Given the description of an element on the screen output the (x, y) to click on. 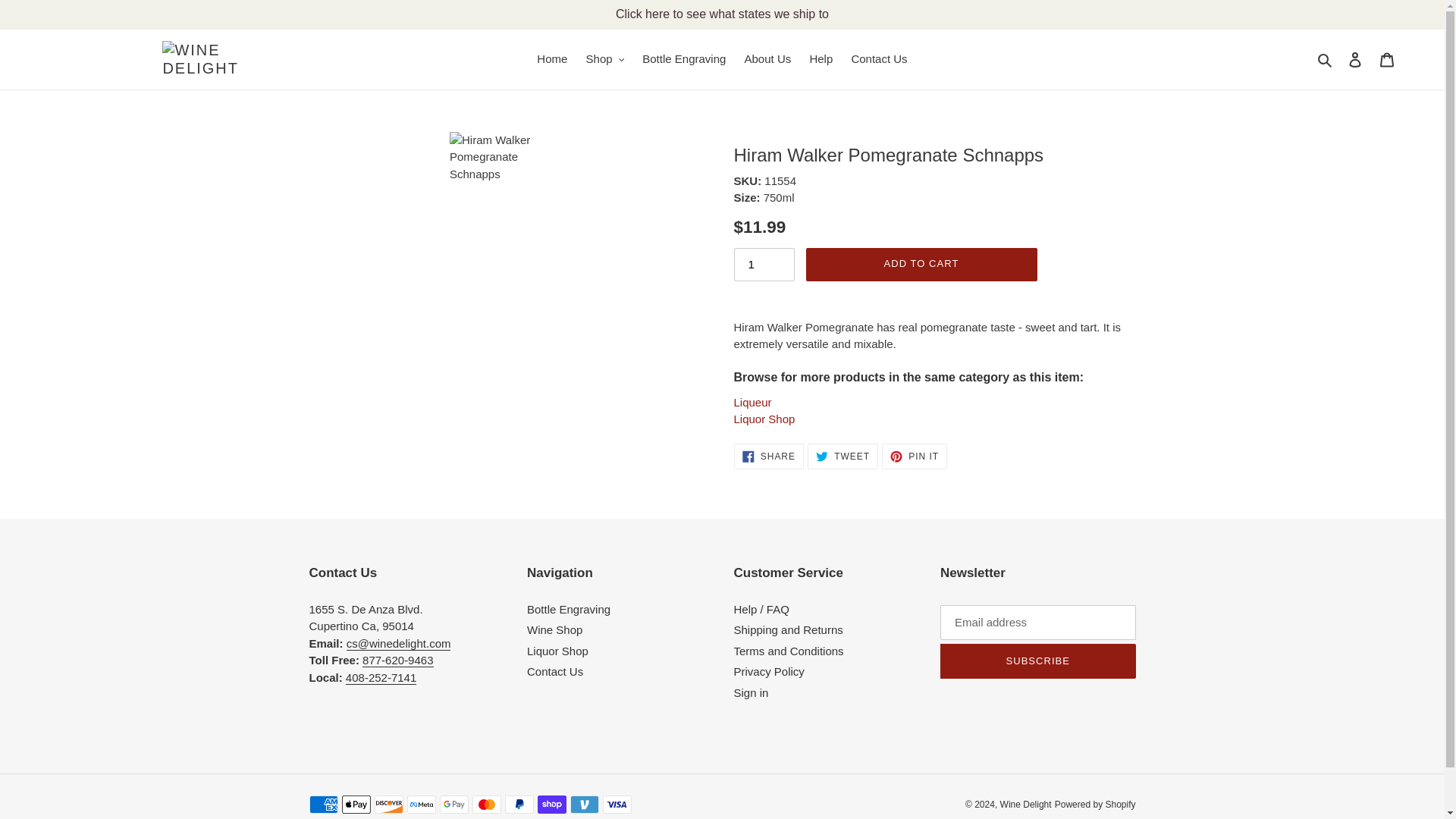
408-252-7141 (381, 677)
Home (552, 59)
Log in (1355, 59)
1 (914, 456)
Bottle Engraving (763, 264)
About Us (683, 59)
Shop (842, 456)
Click here to see what states we ship to (767, 59)
Liquor Shop (768, 456)
Contact Us (604, 59)
877-620-9463 (721, 14)
Help (763, 418)
